Given the description of an element on the screen output the (x, y) to click on. 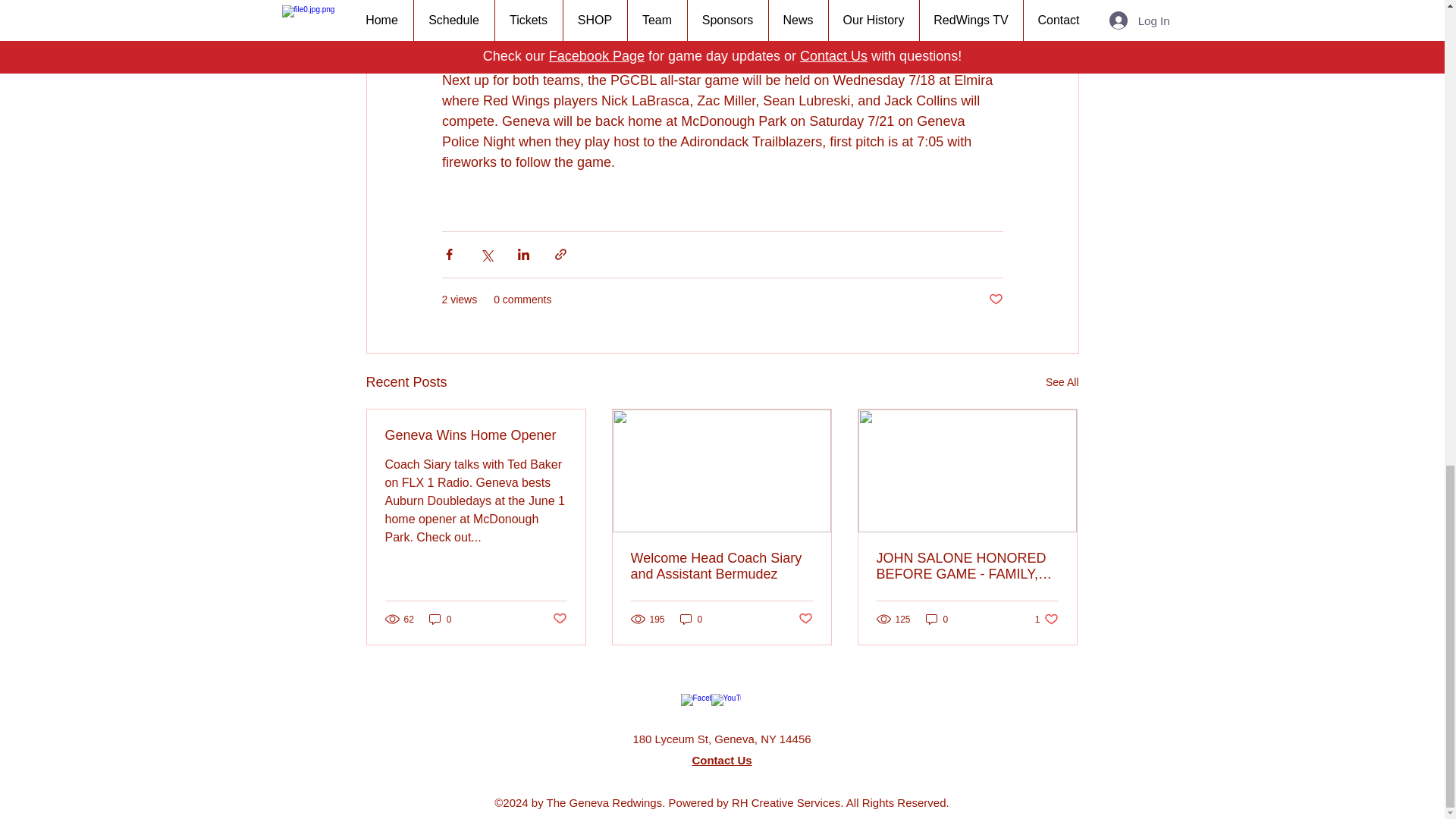
0 (440, 618)
Post not marked as liked (804, 618)
Post not marked as liked (995, 299)
0 (937, 618)
Welcome Head Coach Siary and Assistant Bermudez (721, 566)
See All (1061, 382)
0 (691, 618)
Post not marked as liked (558, 618)
